Given the description of an element on the screen output the (x, y) to click on. 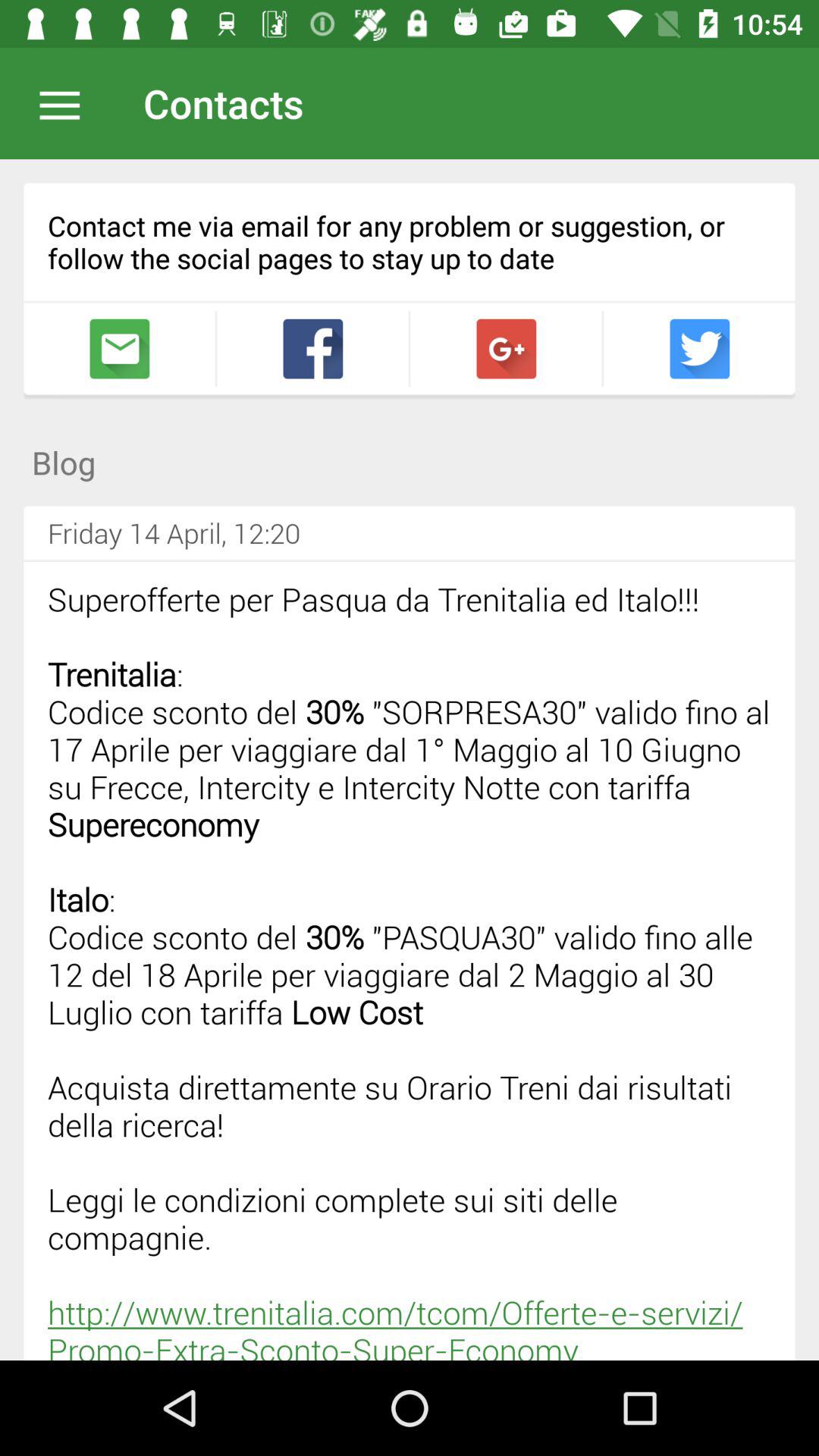
follow on twitter (699, 348)
